Given the description of an element on the screen output the (x, y) to click on. 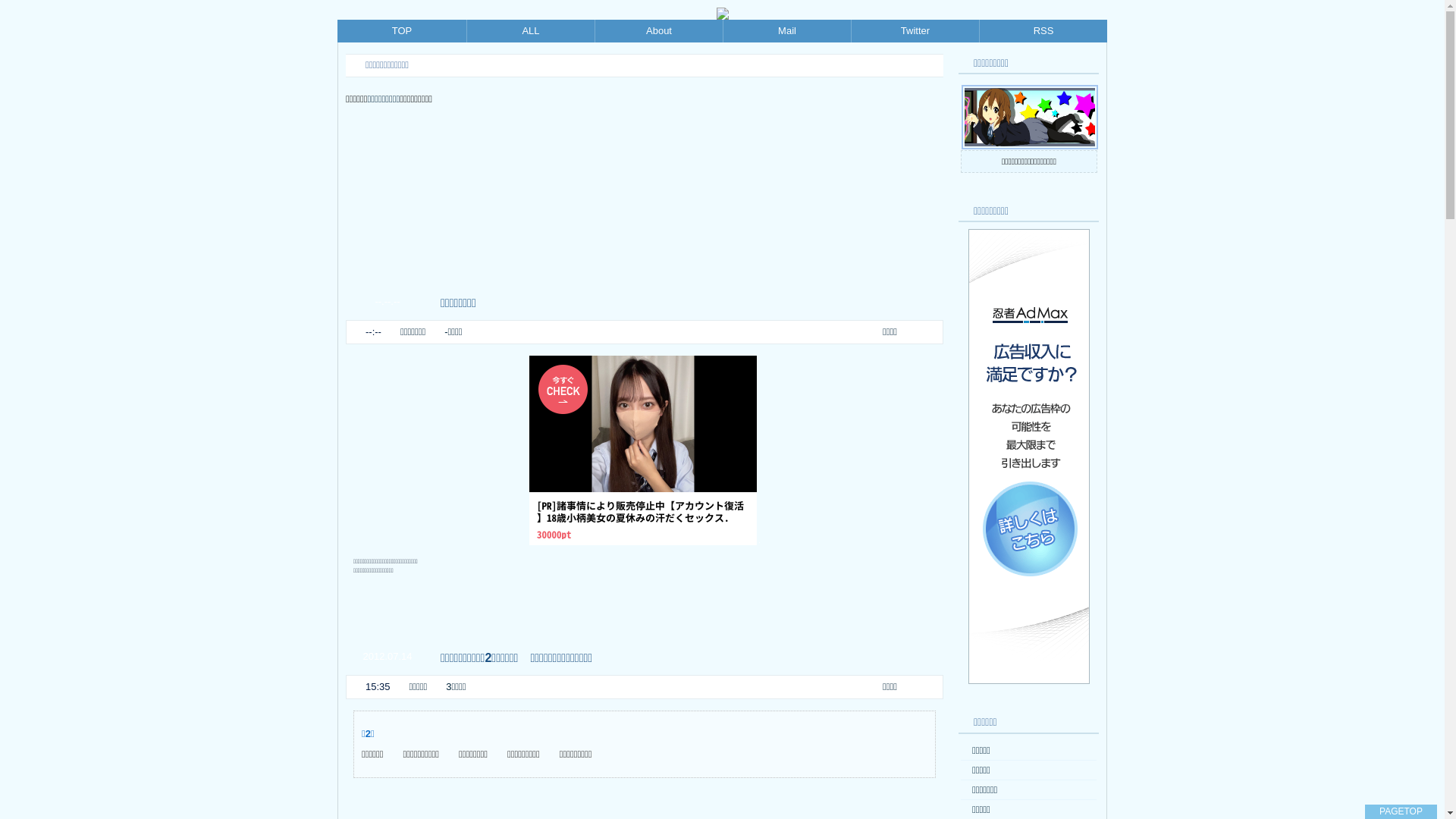
ALL Element type: text (530, 30)
RSS Element type: text (1043, 30)
TOP Element type: text (401, 30)
Mail Element type: text (786, 30)
--.--.-- Element type: text (386, 301)
2012.07.14 Element type: text (386, 656)
About Element type: text (658, 30)
Twitter Element type: text (915, 30)
